Given the description of an element on the screen output the (x, y) to click on. 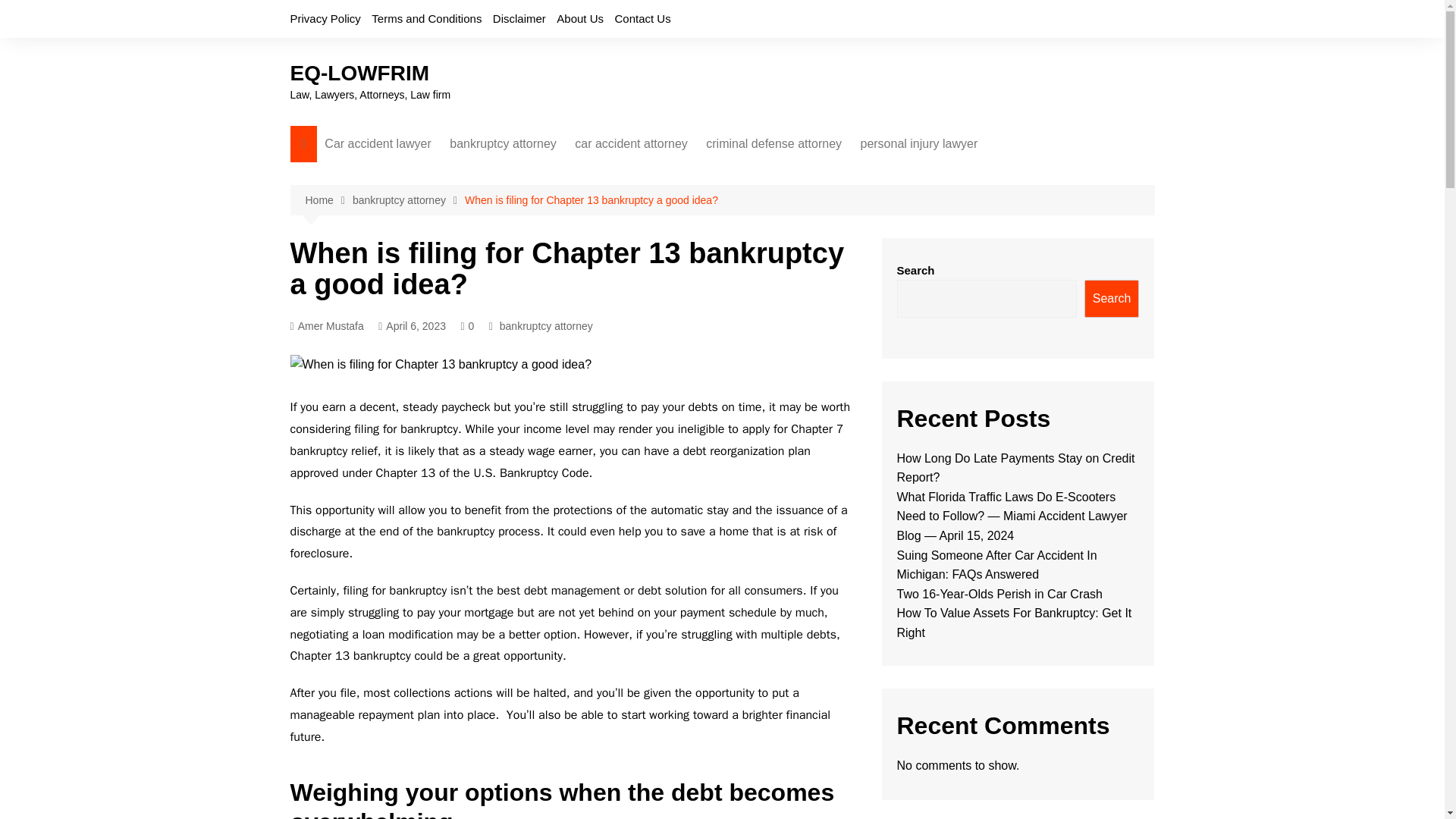
EQ-LOWFRIM (359, 73)
Home (328, 200)
bankruptcy attorney (408, 200)
bankruptcy attorney (503, 144)
Amer Mustafa (325, 325)
criminal defense attorney (773, 144)
Car accident lawyer (378, 144)
Privacy Policy (324, 18)
About Us (580, 18)
Contact Us (641, 18)
